Given the description of an element on the screen output the (x, y) to click on. 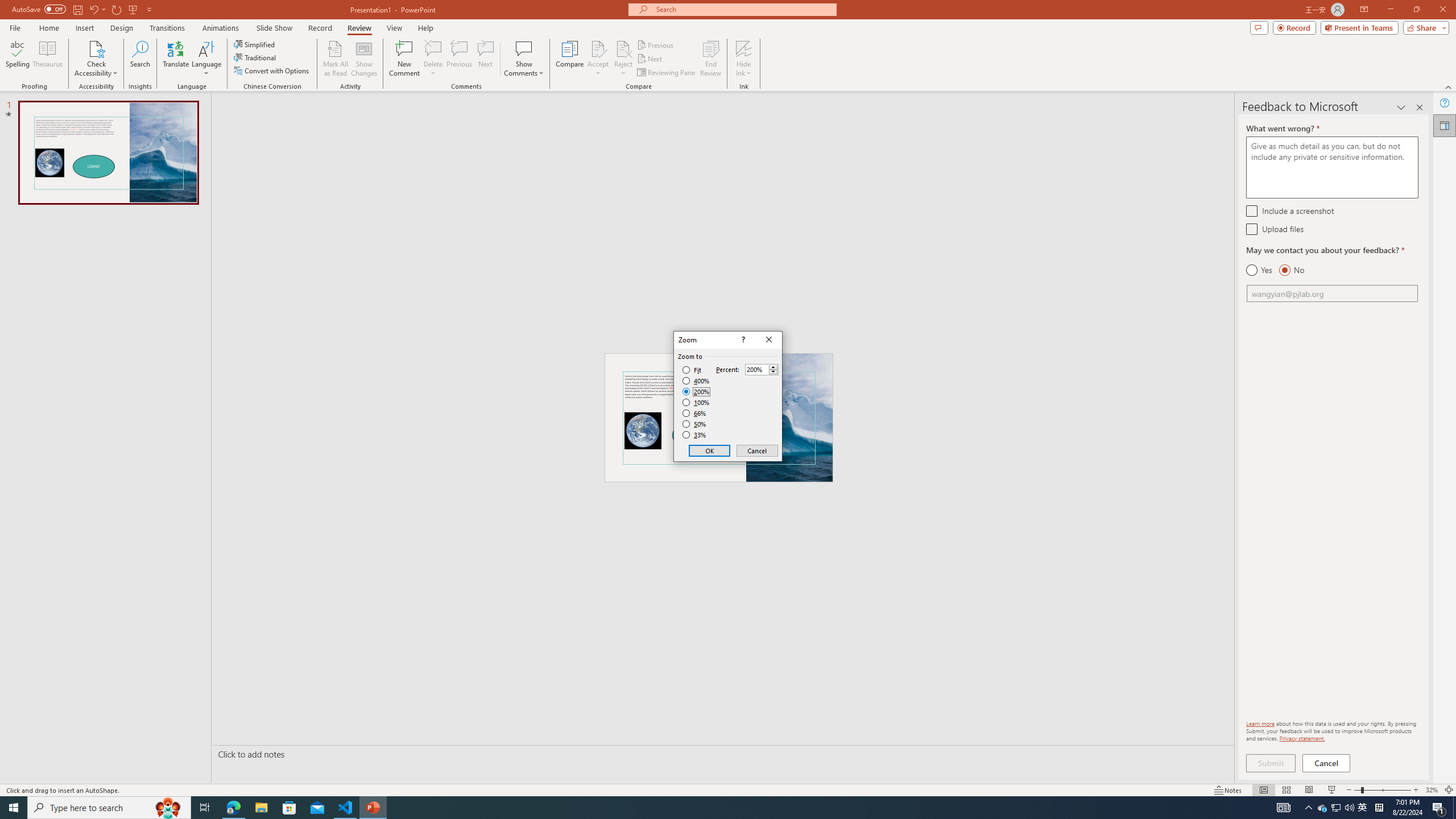
200% (696, 391)
